Given the description of an element on the screen output the (x, y) to click on. 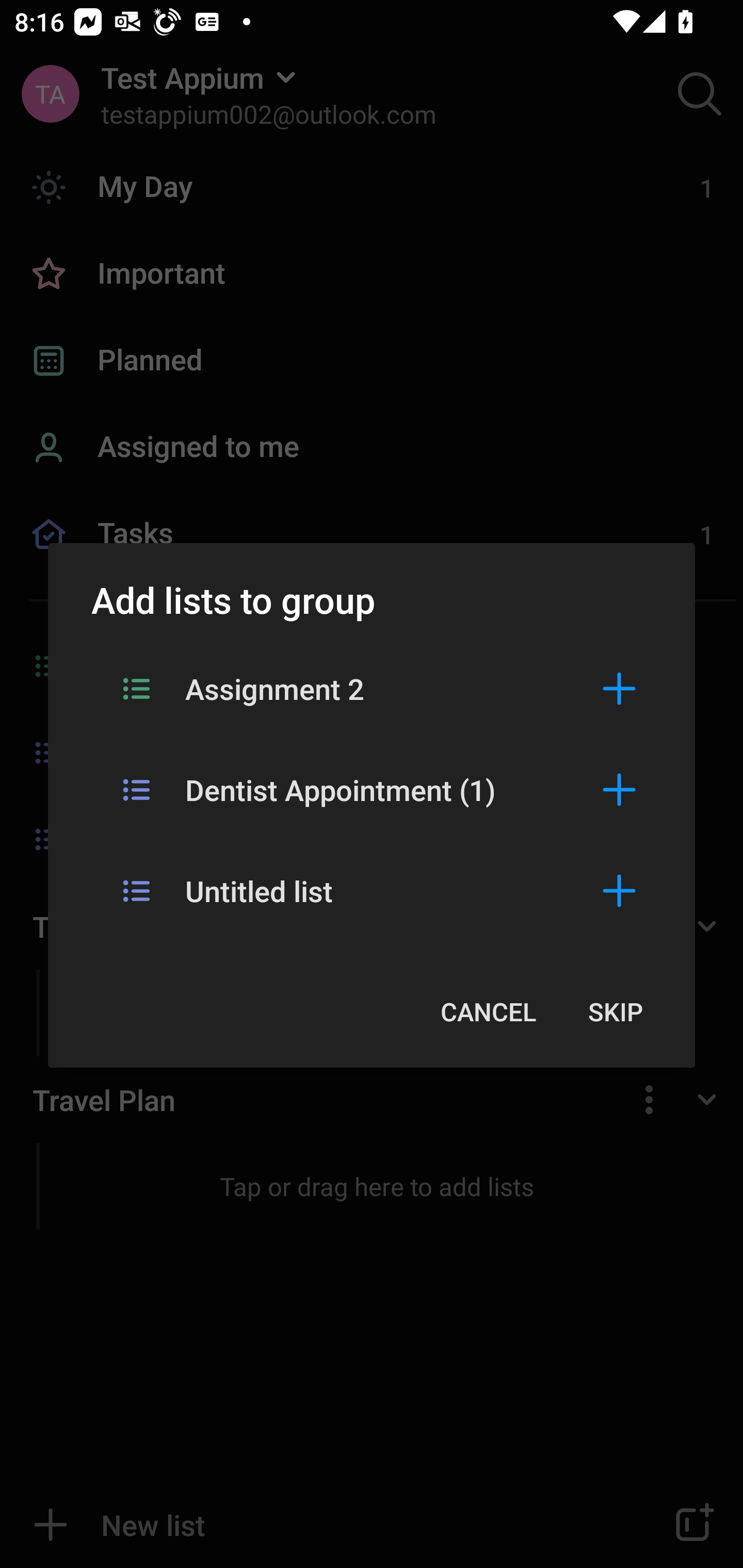
Assignment 2 (371, 688)
Dentist Appointment (1) (371, 789)
Untitled list (371, 890)
CANCEL (488, 1010)
SKIP (615, 1010)
